Given the description of an element on the screen output the (x, y) to click on. 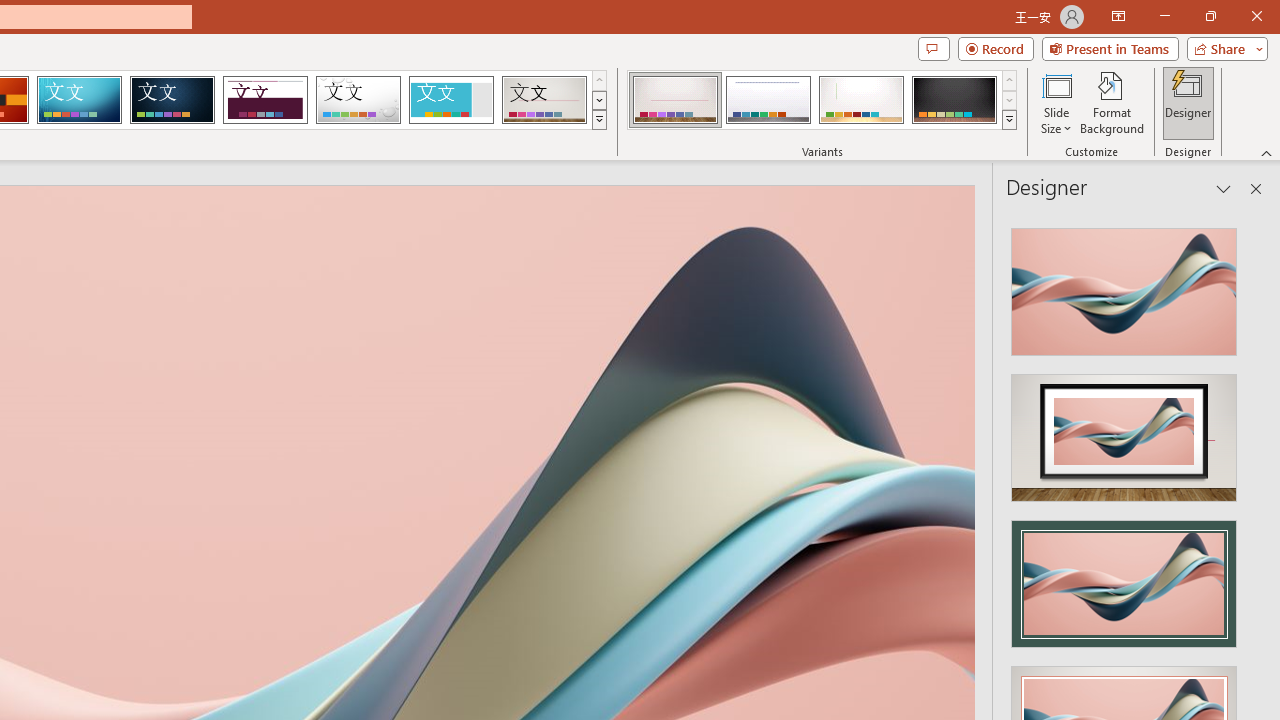
Frame (450, 100)
Circuit (79, 100)
Gallery Variant 2 (768, 100)
